Given the description of an element on the screen output the (x, y) to click on. 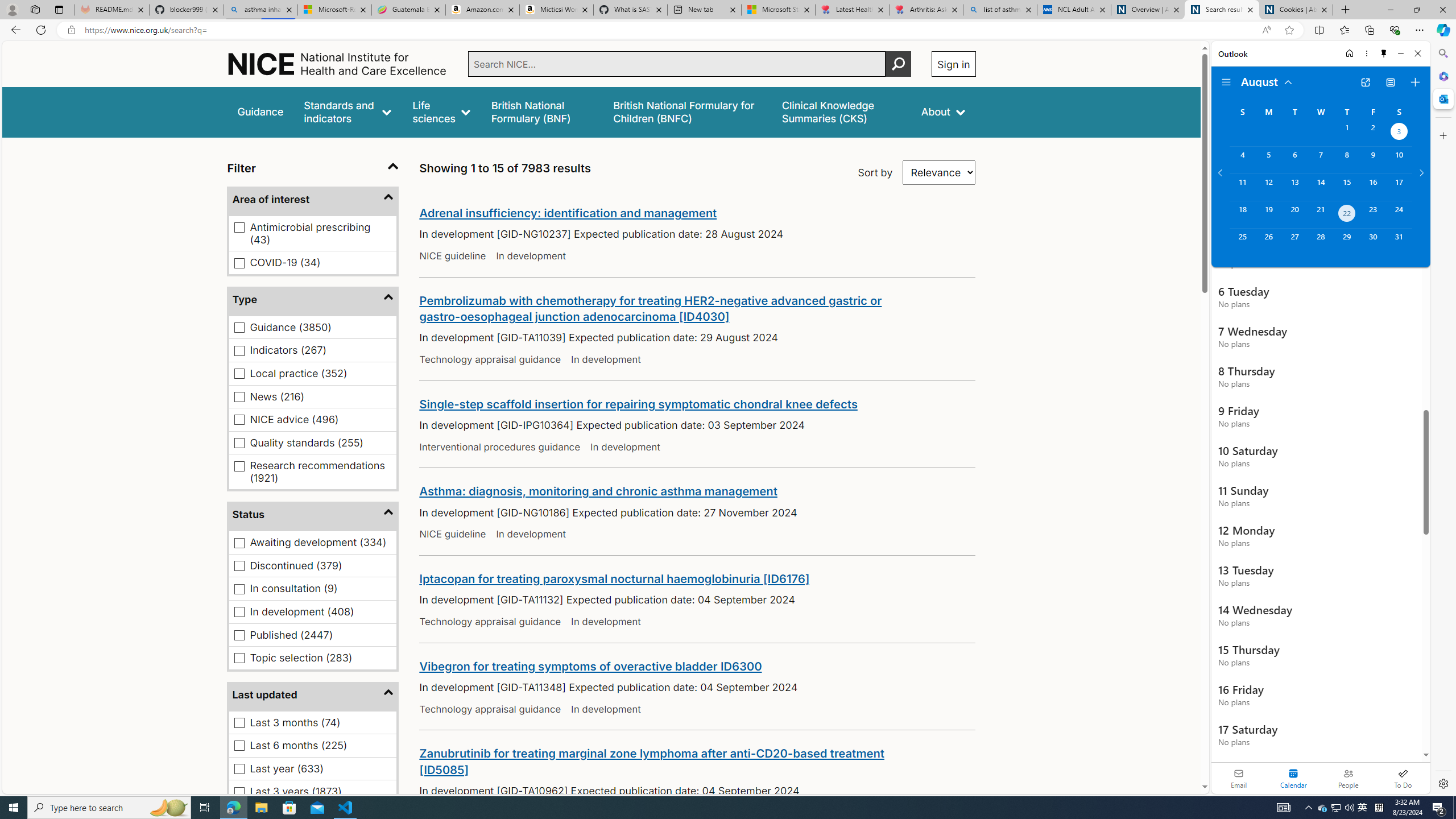
list of asthma inhalers uk - Search (1000, 9)
In development (408) (239, 611)
Friday, August 9, 2024.  (1372, 159)
Create event (1414, 82)
Last year (633) (239, 769)
Asthma: diagnosis, monitoring and chronic asthma management (598, 491)
Last 6 months (225) (239, 745)
Home (1348, 53)
Quality standards (255) (239, 442)
In consultation (9) (239, 588)
